Given the description of an element on the screen output the (x, y) to click on. 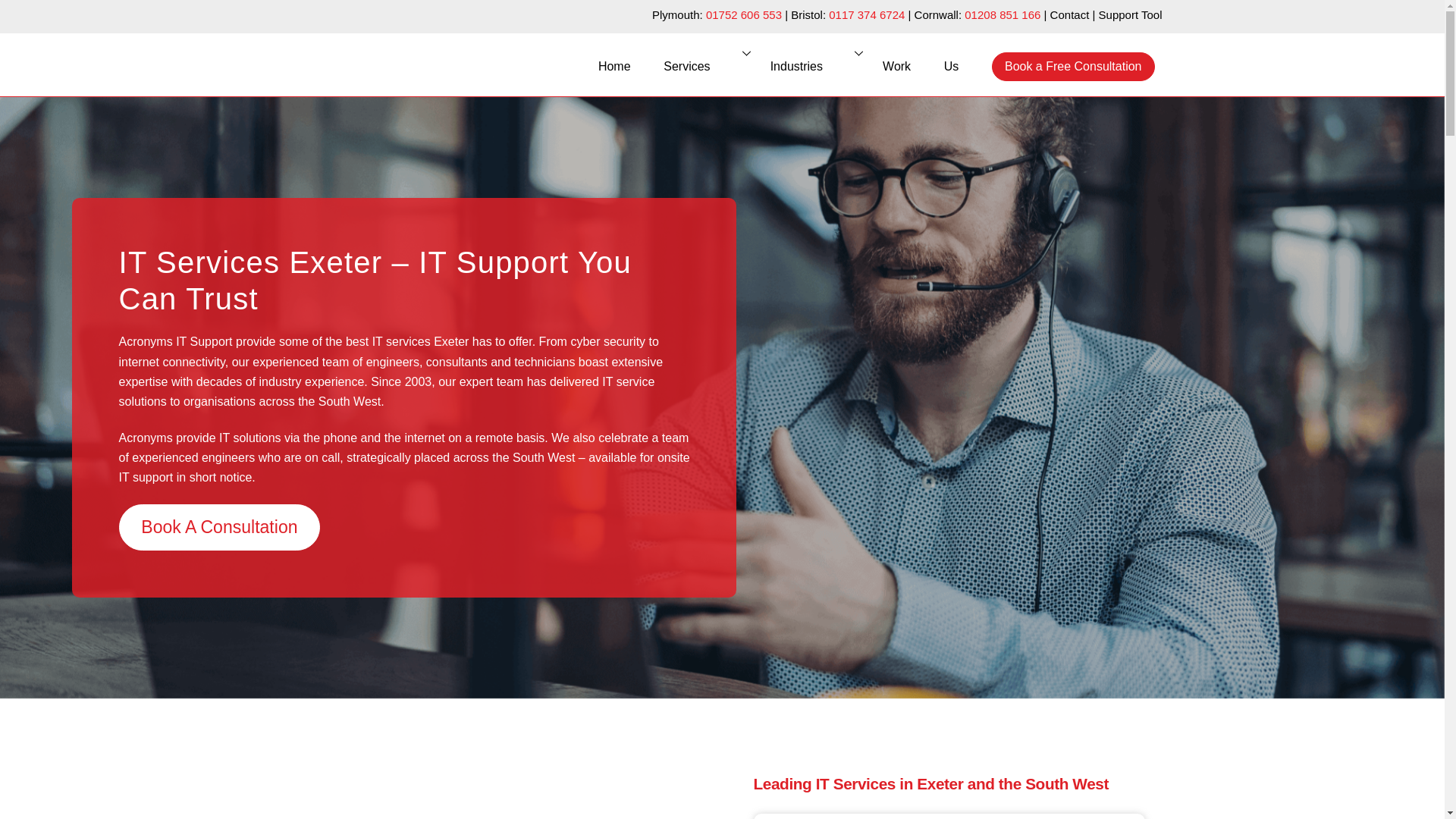
01752 606 553 (743, 14)
Book a Free Consultation (1072, 66)
Support Tool (1130, 14)
Services (700, 66)
0117 374 6724 (866, 14)
Contact (782, 64)
Industries (1069, 14)
Work (809, 66)
Book A Consultation (896, 66)
